Given the description of an element on the screen output the (x, y) to click on. 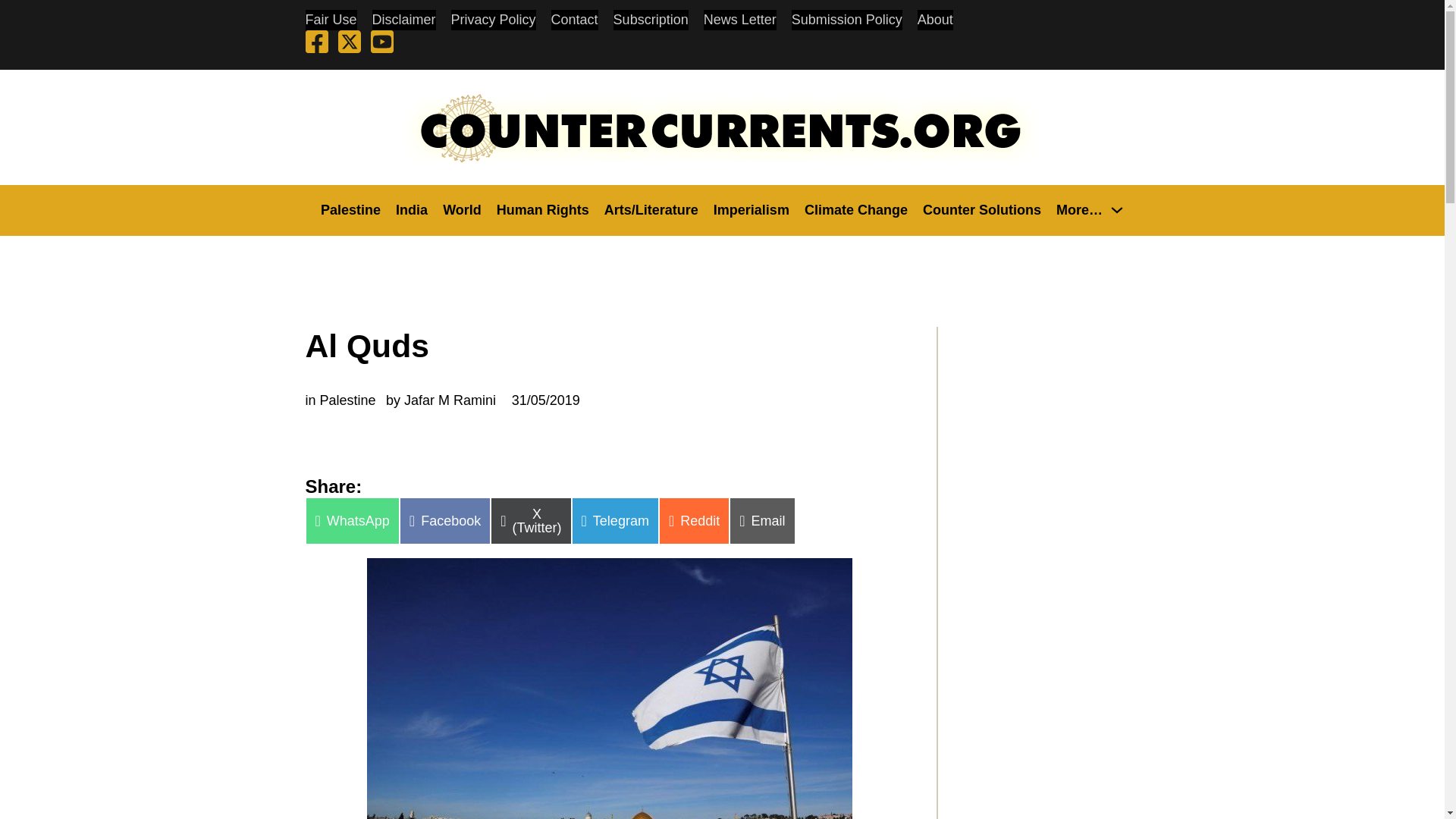
India (412, 209)
Privacy Policy (493, 19)
Imperialism (751, 209)
Al Quds 2 (608, 688)
News Letter (739, 19)
Palestine (350, 209)
Fair Use (330, 19)
Disclaimer (403, 19)
Contact (574, 19)
Counter Solutions (982, 209)
Climate Change (856, 209)
Subscription (650, 19)
World (461, 209)
Submission Policy (847, 19)
Human Rights (542, 209)
